Given the description of an element on the screen output the (x, y) to click on. 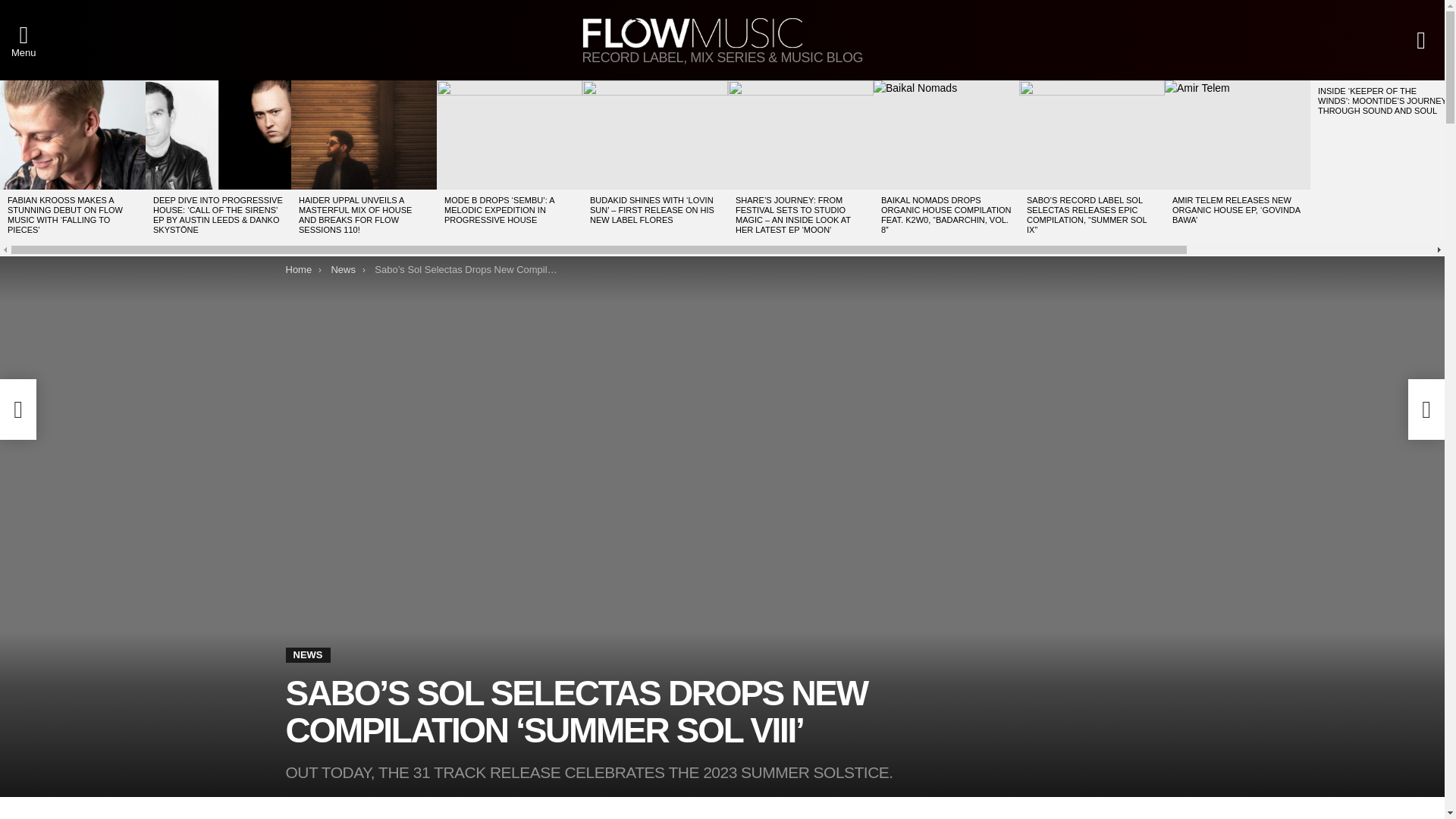
NEWS (307, 654)
News (342, 269)
Home (298, 269)
